Given the description of an element on the screen output the (x, y) to click on. 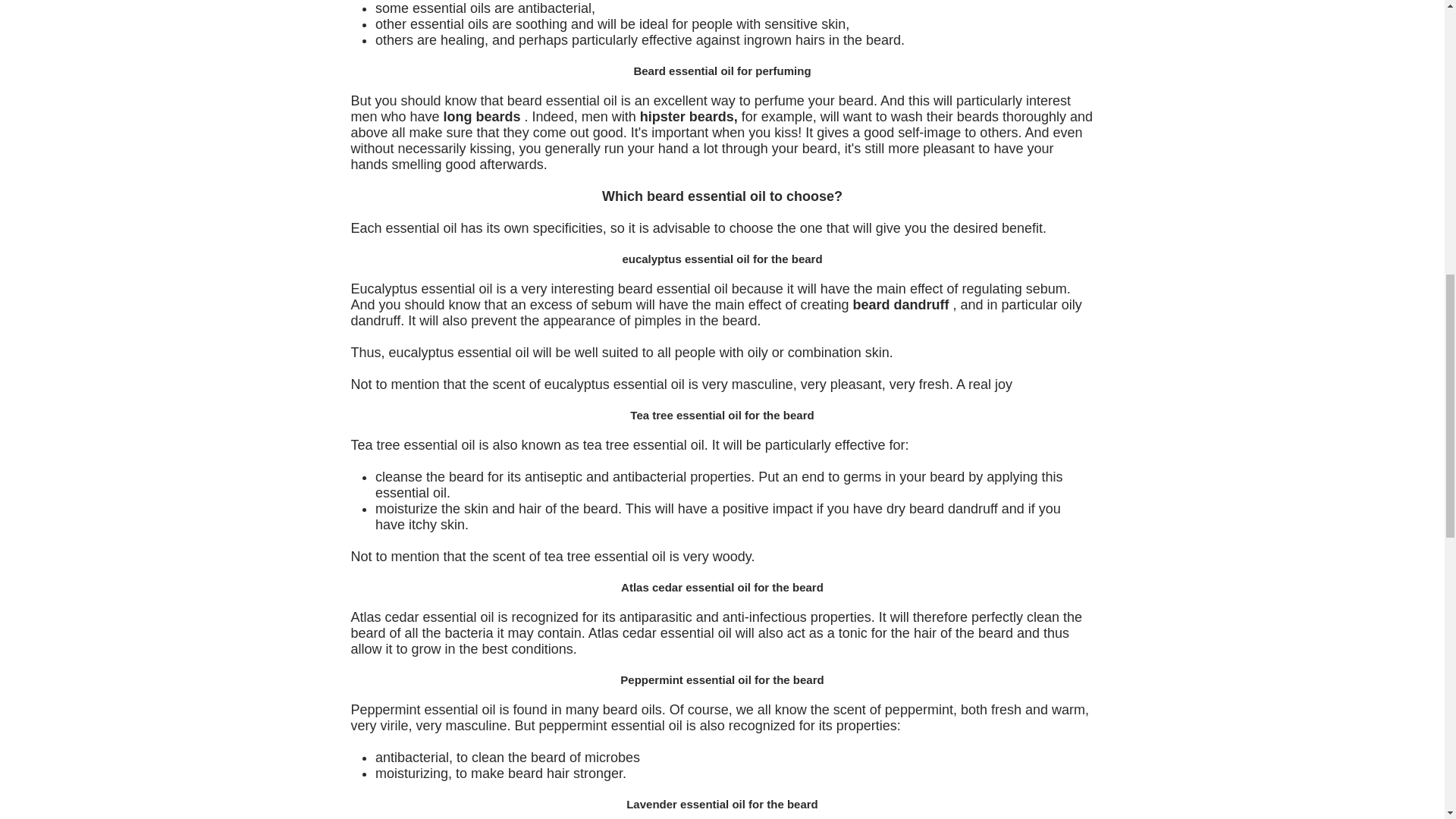
beard dandruff (901, 304)
hipster beards, (689, 116)
long beards (482, 116)
